Given the description of an element on the screen output the (x, y) to click on. 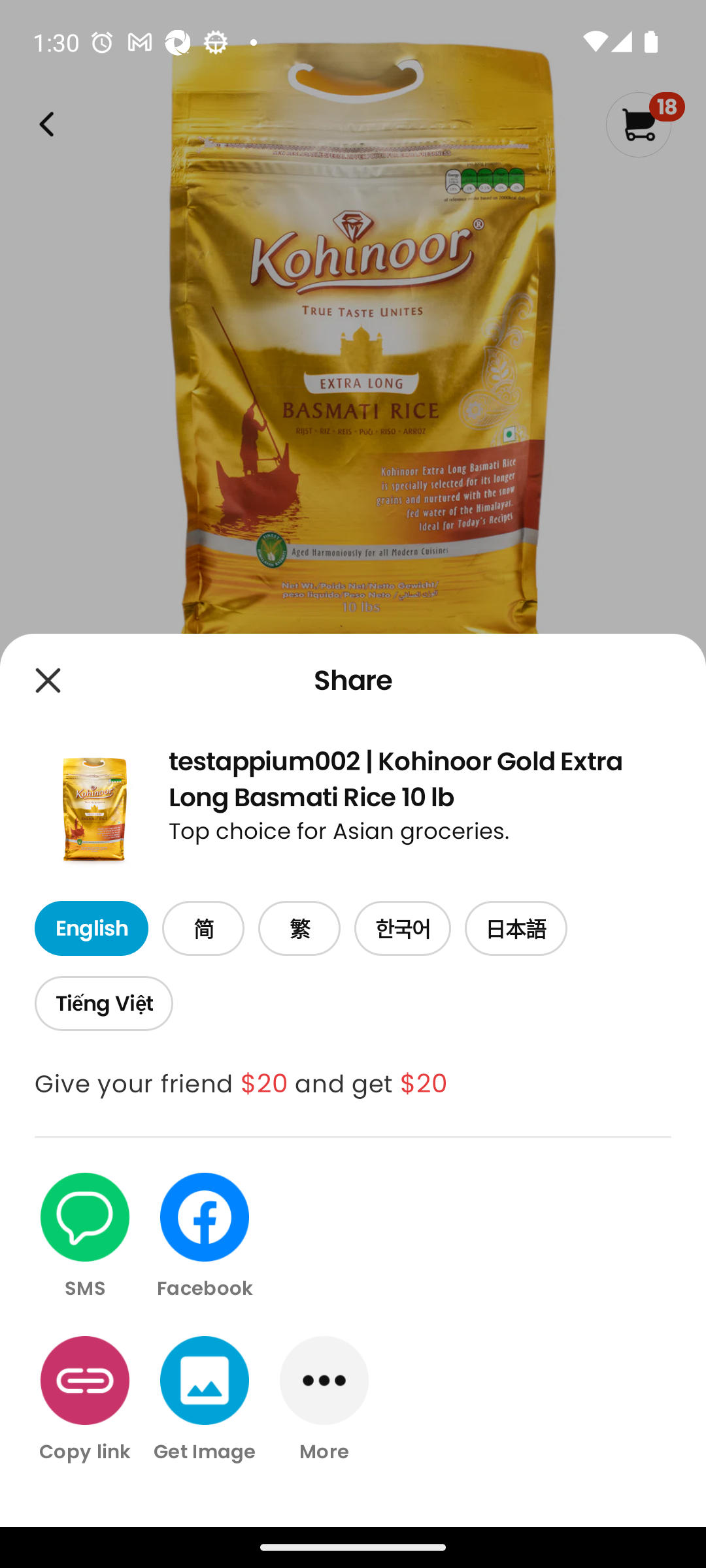
English (91, 928)
简 (203, 928)
繁 (299, 928)
한국어 (402, 928)
日本語 (515, 928)
Tiếng Việt (103, 1003)
SMS (85, 1236)
Facebook (204, 1236)
Copy link (85, 1399)
Get Image (204, 1399)
More (324, 1399)
